Given the description of an element on the screen output the (x, y) to click on. 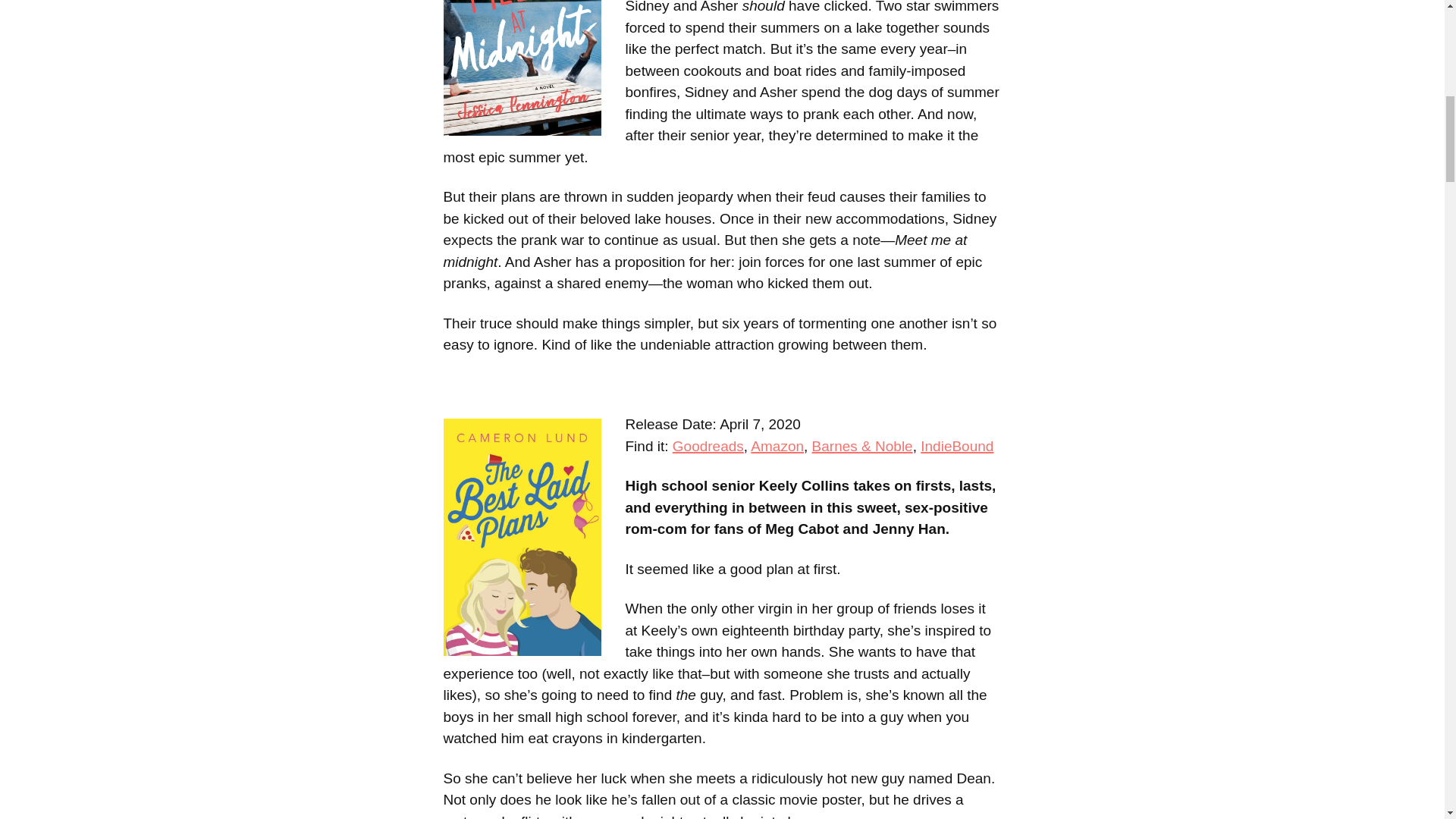
IndieBound (956, 446)
Goodreads (708, 446)
Amazon (777, 446)
